Given the description of an element on the screen output the (x, y) to click on. 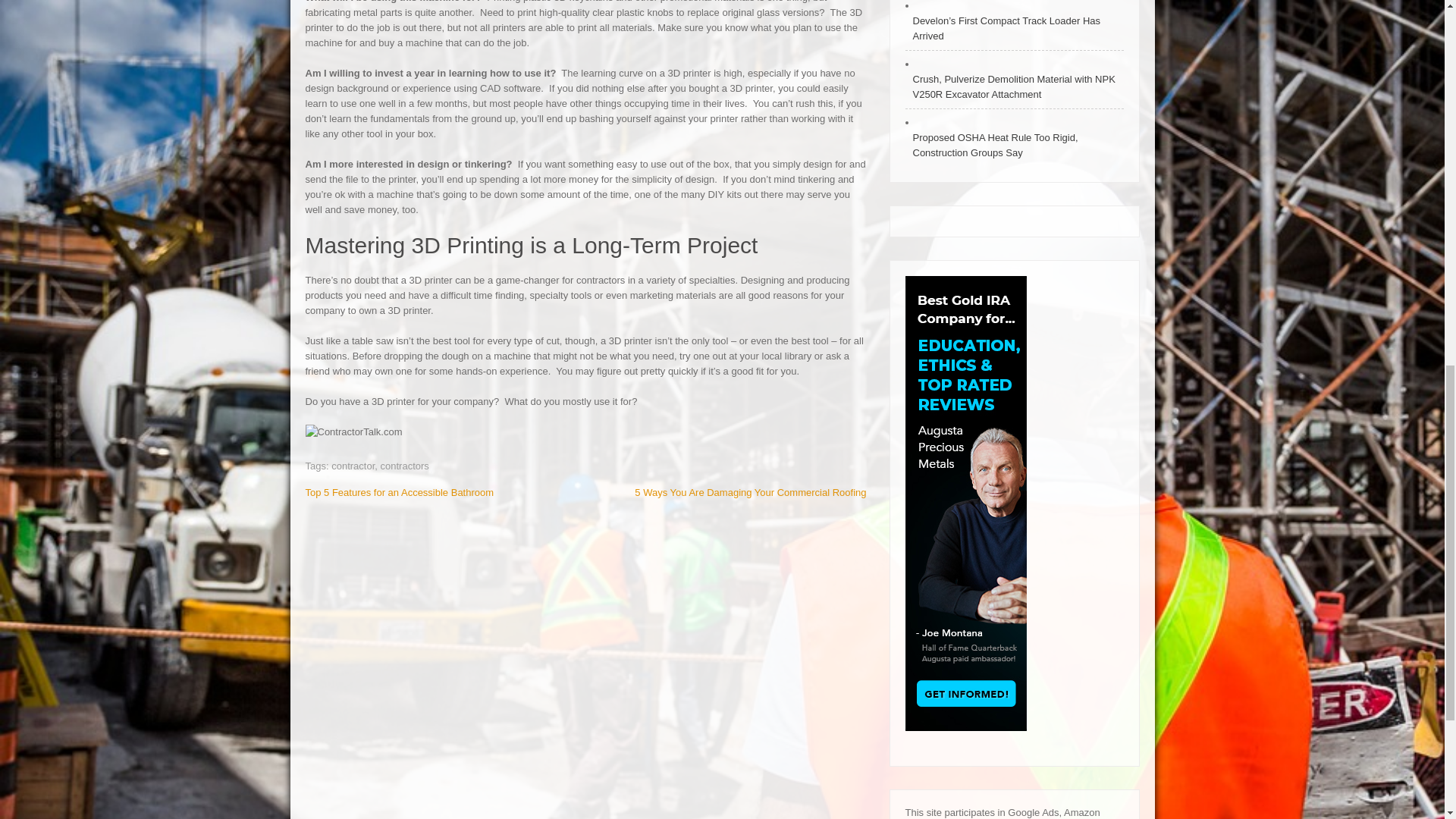
Top 5 Features for an Accessible Bathroom (398, 491)
Proposed OSHA Heat Rule Too Rigid, Construction Groups Say (1014, 145)
contractor (352, 465)
contractors (404, 465)
5 Ways You Are Damaging Your Commercial Roofing (750, 491)
